Given the description of an element on the screen output the (x, y) to click on. 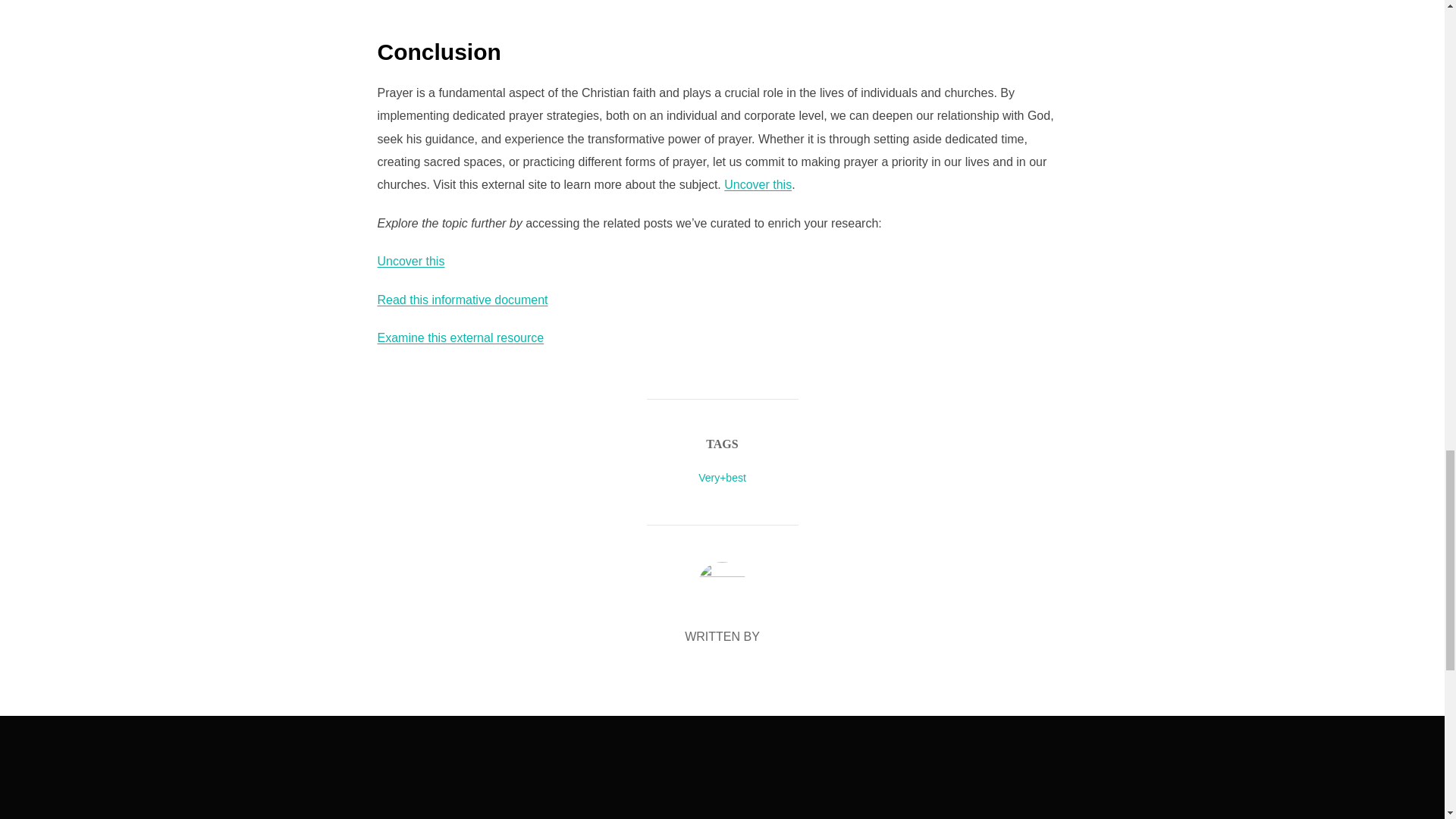
Examine this external resource (460, 337)
Uncover this (411, 260)
Read this informative document (462, 298)
Uncover this (757, 184)
